Given the description of an element on the screen output the (x, y) to click on. 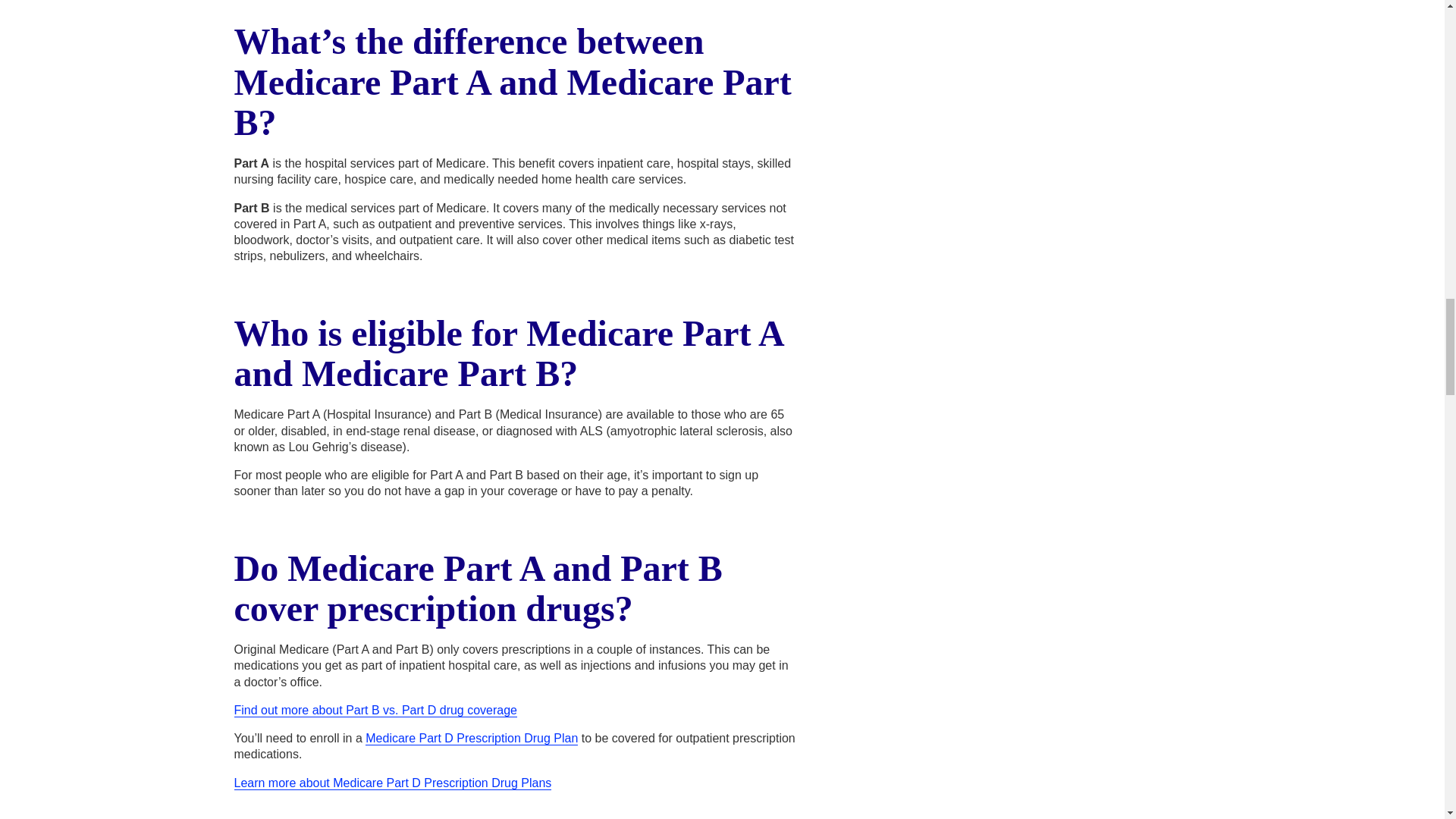
Medicare Part D Prescription Drug Plan (471, 738)
Learn more about Medicare Part D Prescription Drug Plans (391, 783)
Find out more about Part B vs. Part D drug coverage (374, 710)
